Given the description of an element on the screen output the (x, y) to click on. 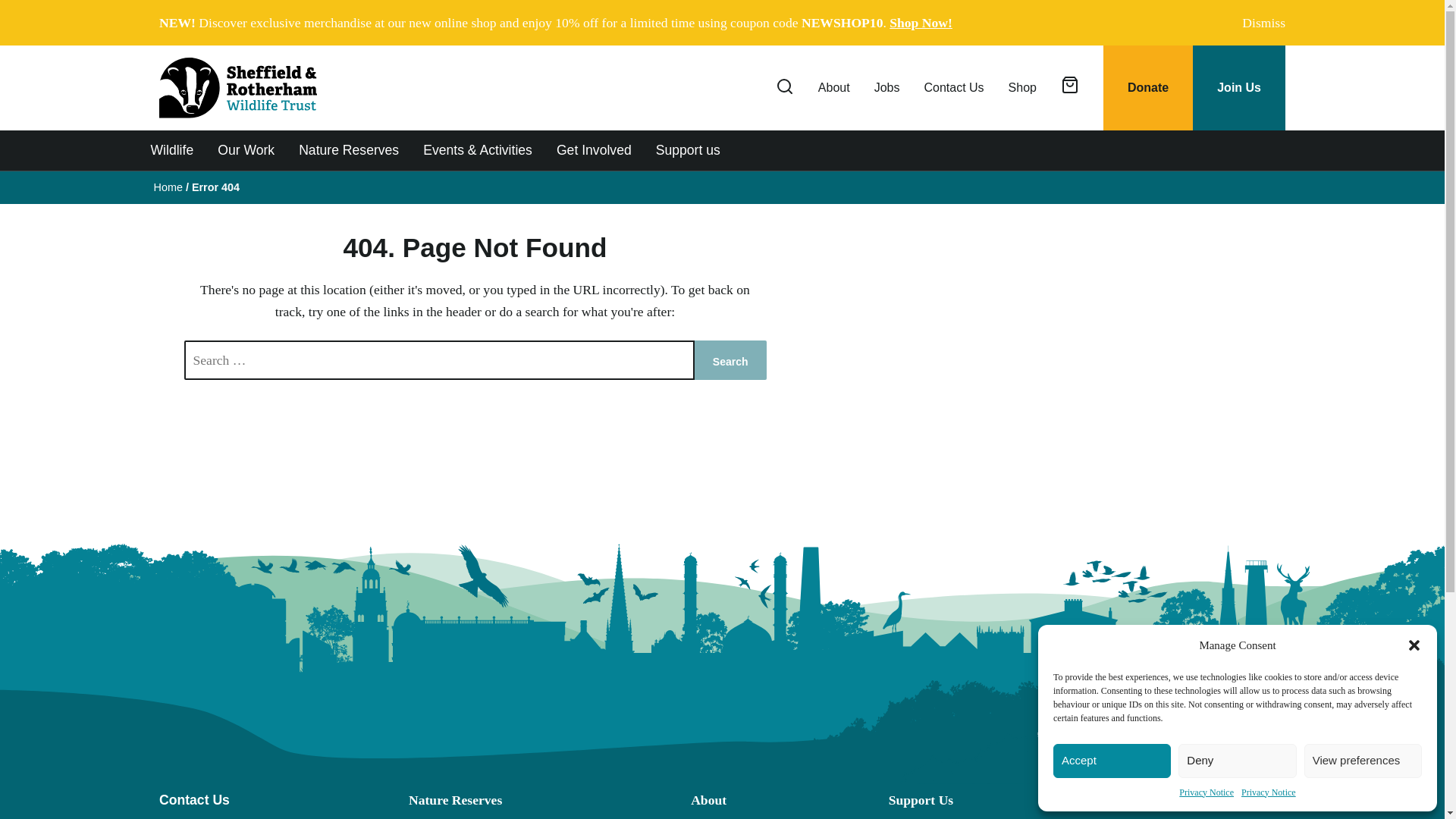
Privacy Notice (1268, 792)
Our Work (245, 149)
Join Us (1238, 87)
Search (730, 360)
Donate (1147, 87)
Search (1248, 262)
Deny (1236, 760)
Privacy Notice (1206, 792)
Dismiss (1260, 22)
Shop Now! (920, 22)
